Given the description of an element on the screen output the (x, y) to click on. 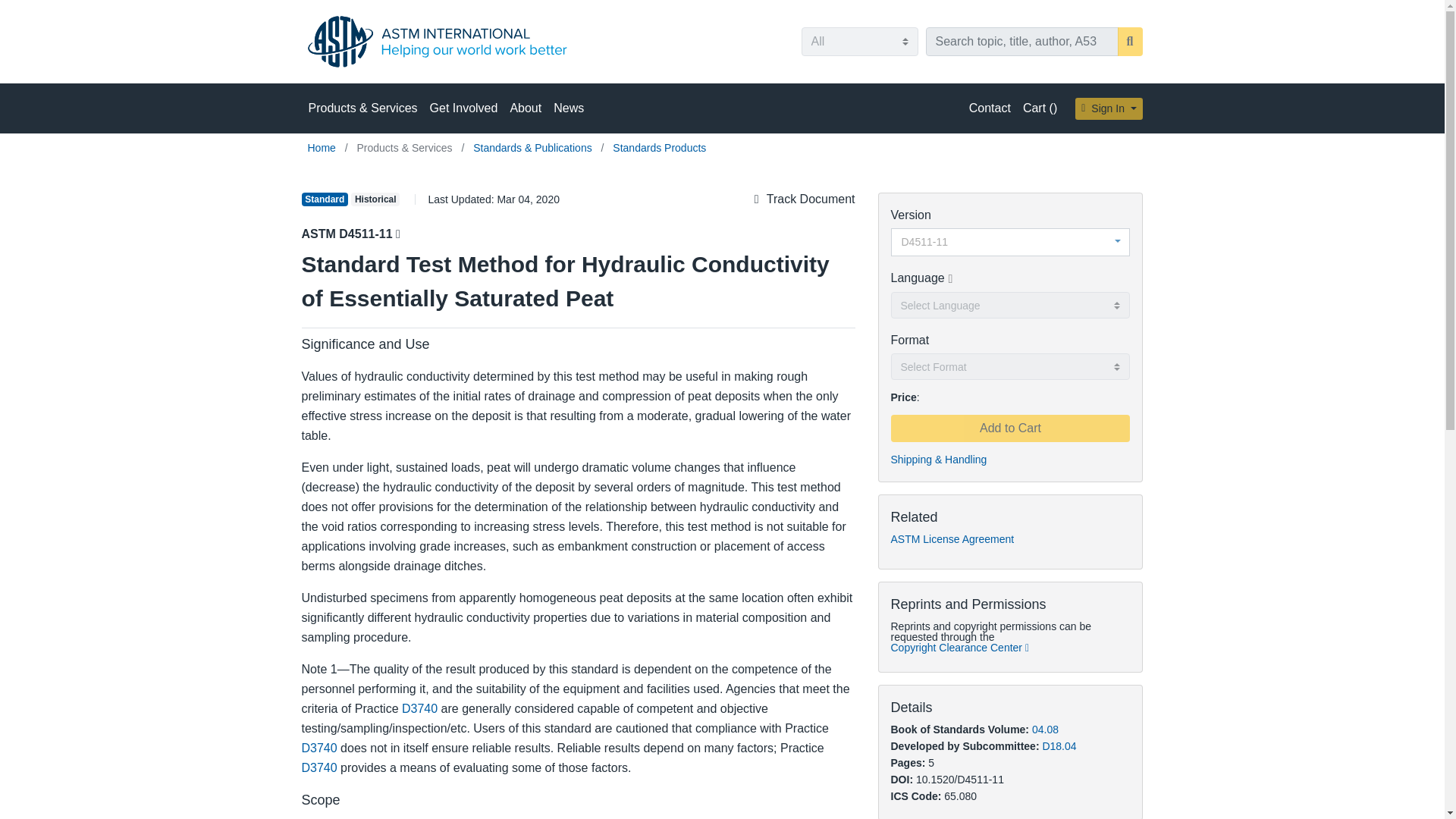
What is a Translated Standard? (950, 279)
Search (1130, 41)
Go to Home Page (323, 147)
Add to Cart (1009, 428)
All (858, 41)
